Given the description of an element on the screen output the (x, y) to click on. 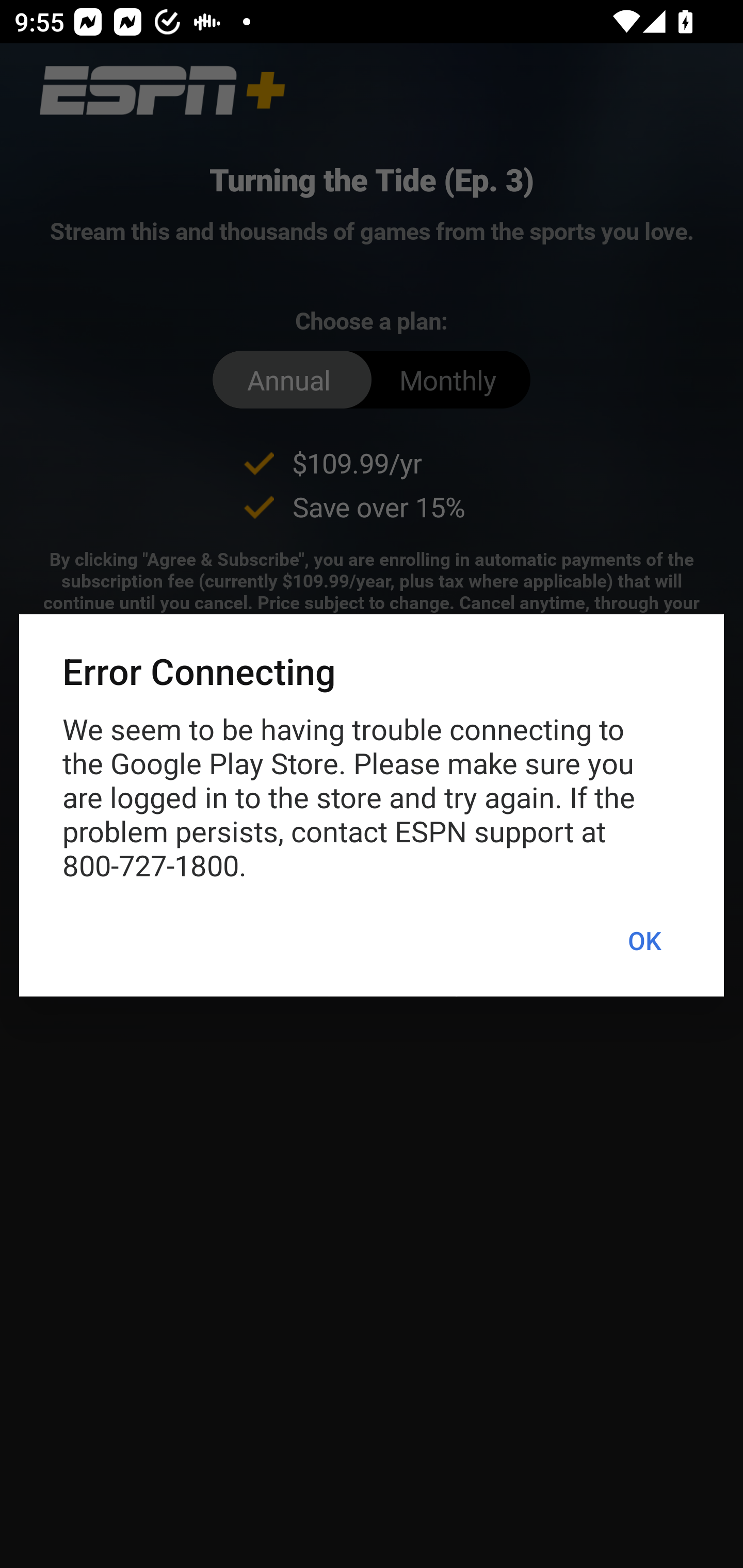
OK (644, 940)
